Given the description of an element on the screen output the (x, y) to click on. 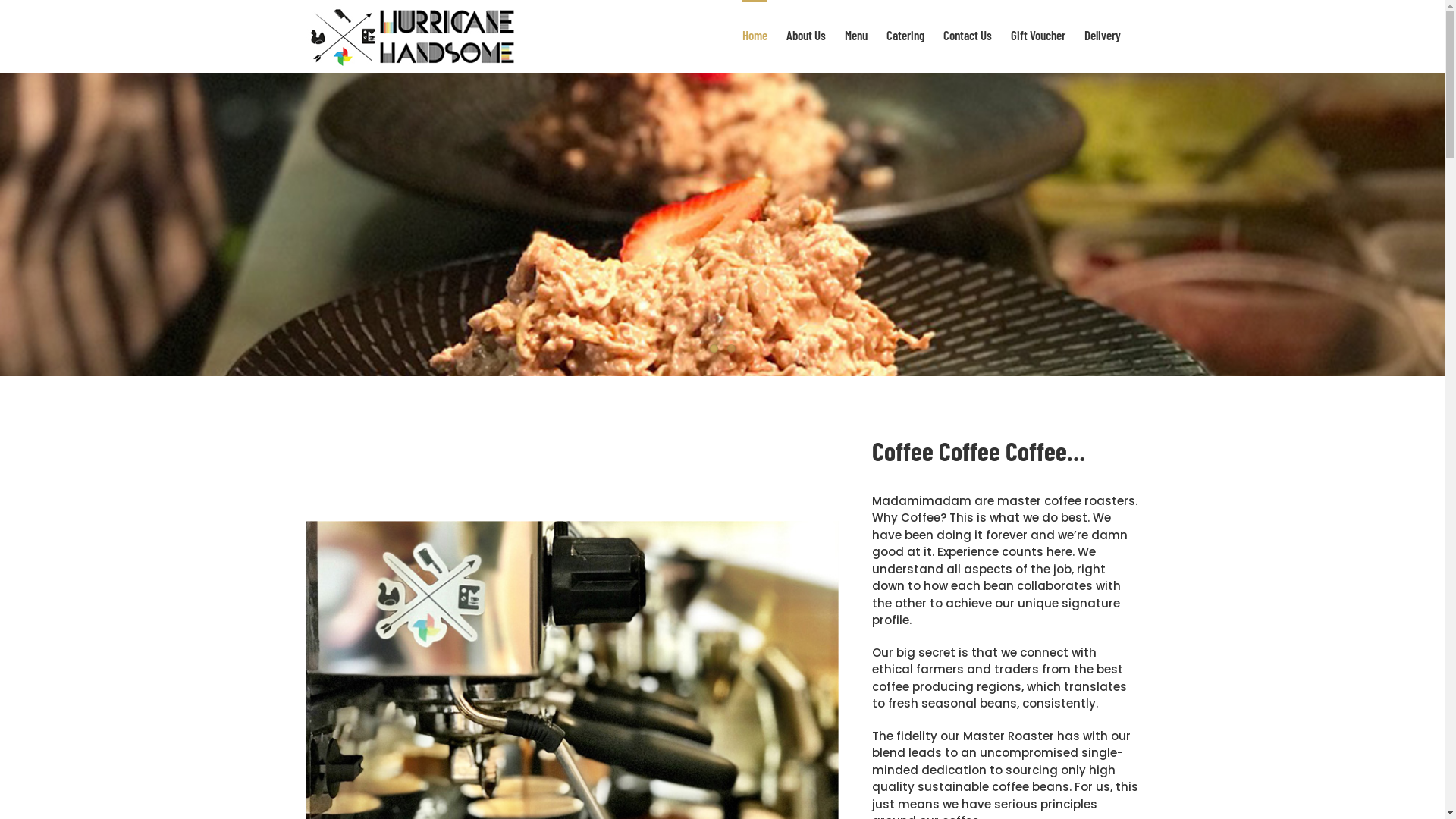
Menu Element type: text (855, 34)
Delivery Element type: text (1102, 34)
Contact Us Element type: text (967, 34)
Gift Voucher Element type: text (1037, 34)
Catering Element type: text (904, 34)
About Us Element type: text (805, 34)
1 Element type: text (713, 348)
Home Element type: text (753, 34)
2 Element type: text (730, 348)
